Given the description of an element on the screen output the (x, y) to click on. 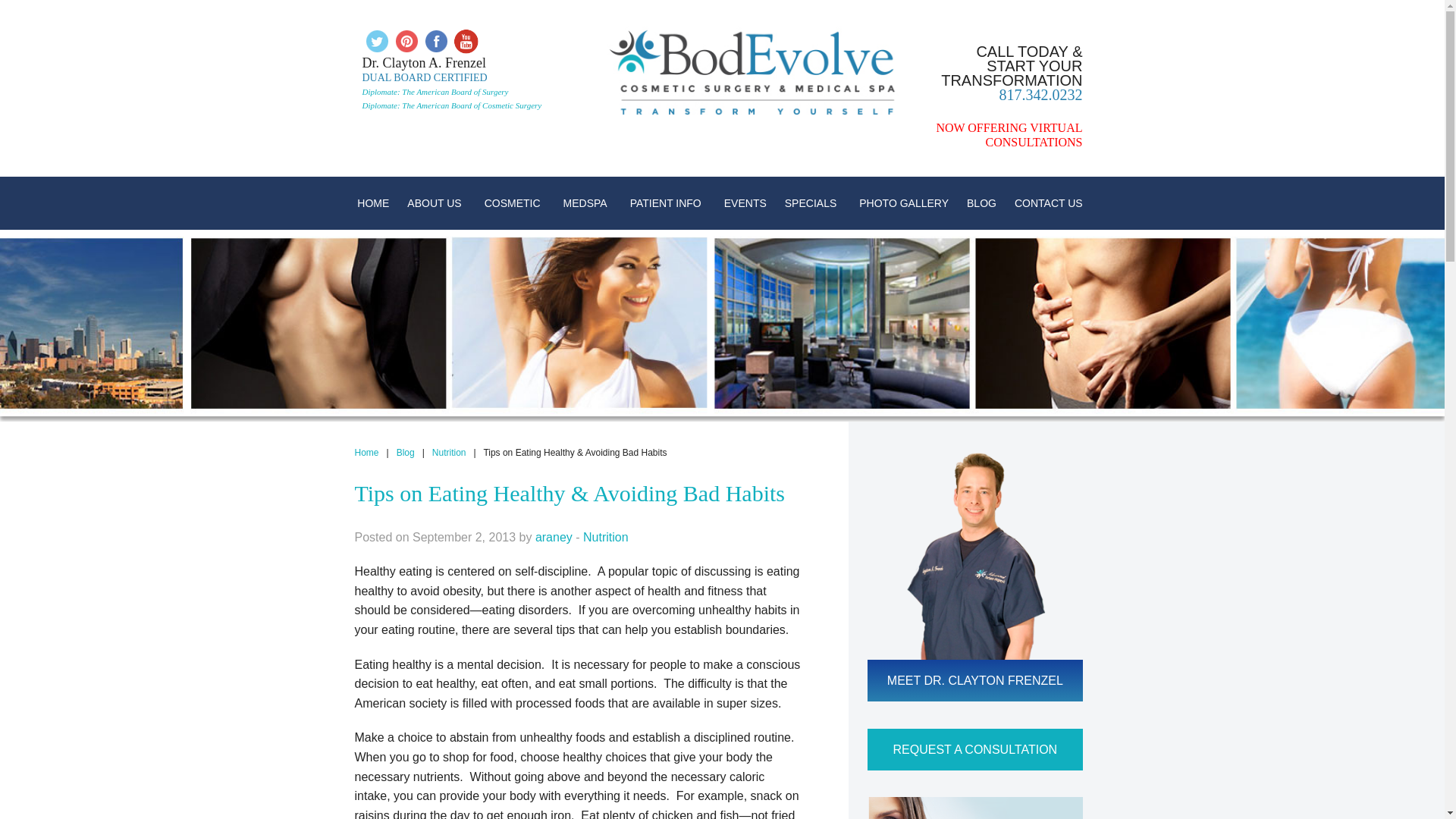
Posts by araney (553, 536)
Diplomate: The American Board of Cosmetic Surgery (451, 104)
View Our Current Specials (974, 807)
COSMETIC (515, 203)
Pinterest (406, 40)
817.342.0232 (1040, 94)
Twitter (377, 40)
Pinterest (405, 40)
MEDSPA (587, 203)
YouTube (464, 40)
ABOUT US (435, 203)
Twitter (376, 40)
Facebook (436, 40)
HOME (372, 203)
Facebook (436, 40)
